Given the description of an element on the screen output the (x, y) to click on. 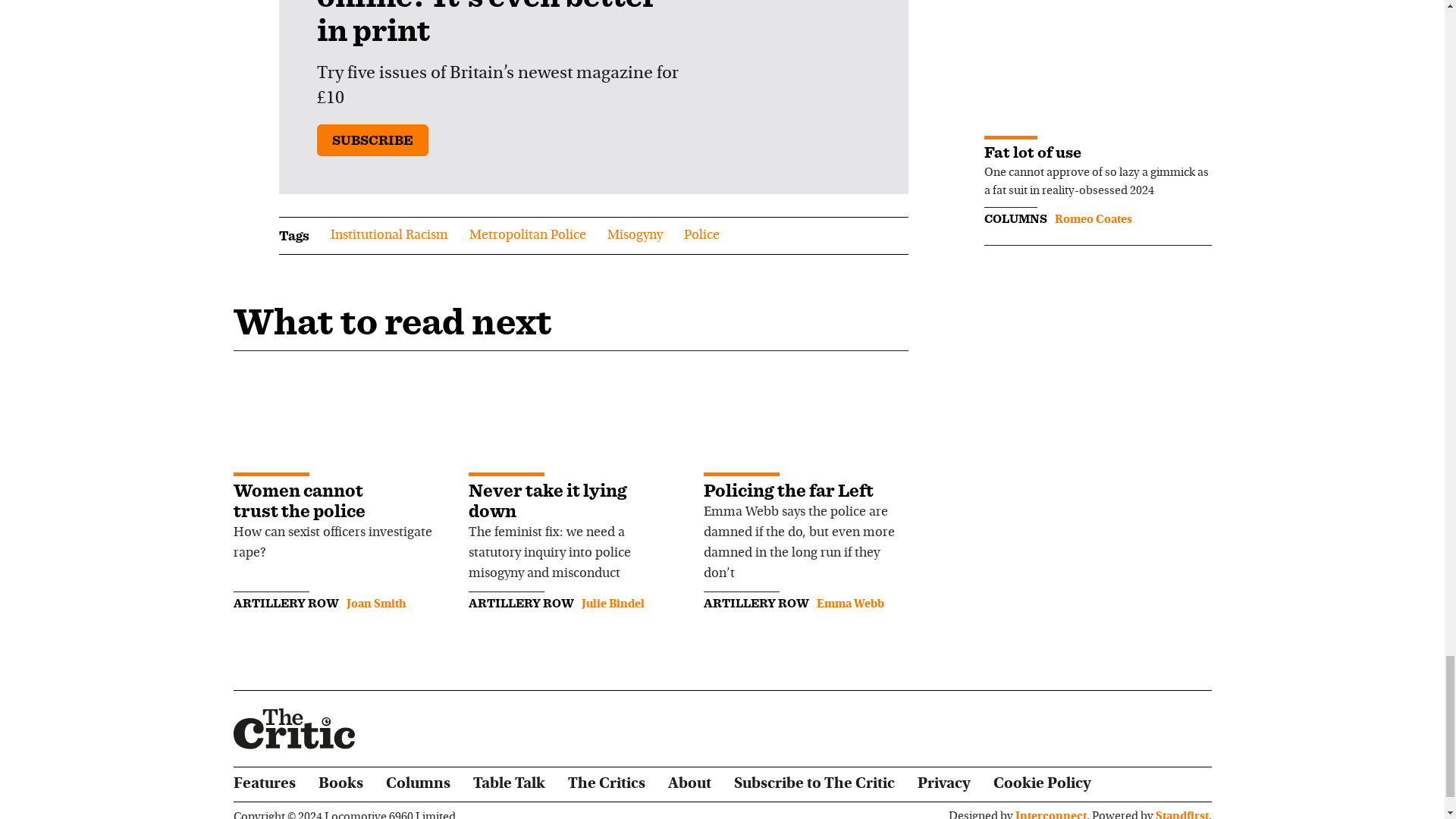
SUBSCRIBE (372, 140)
Institutional Racism (389, 235)
Posts by Emma Webb (849, 604)
Metropolitan Police (526, 235)
Misogyny (634, 235)
Posts by Joan Smith (376, 604)
Police (701, 235)
Posts by Julie Bindel (611, 604)
Posts by Romeo Coates (1092, 219)
